Given the description of an element on the screen output the (x, y) to click on. 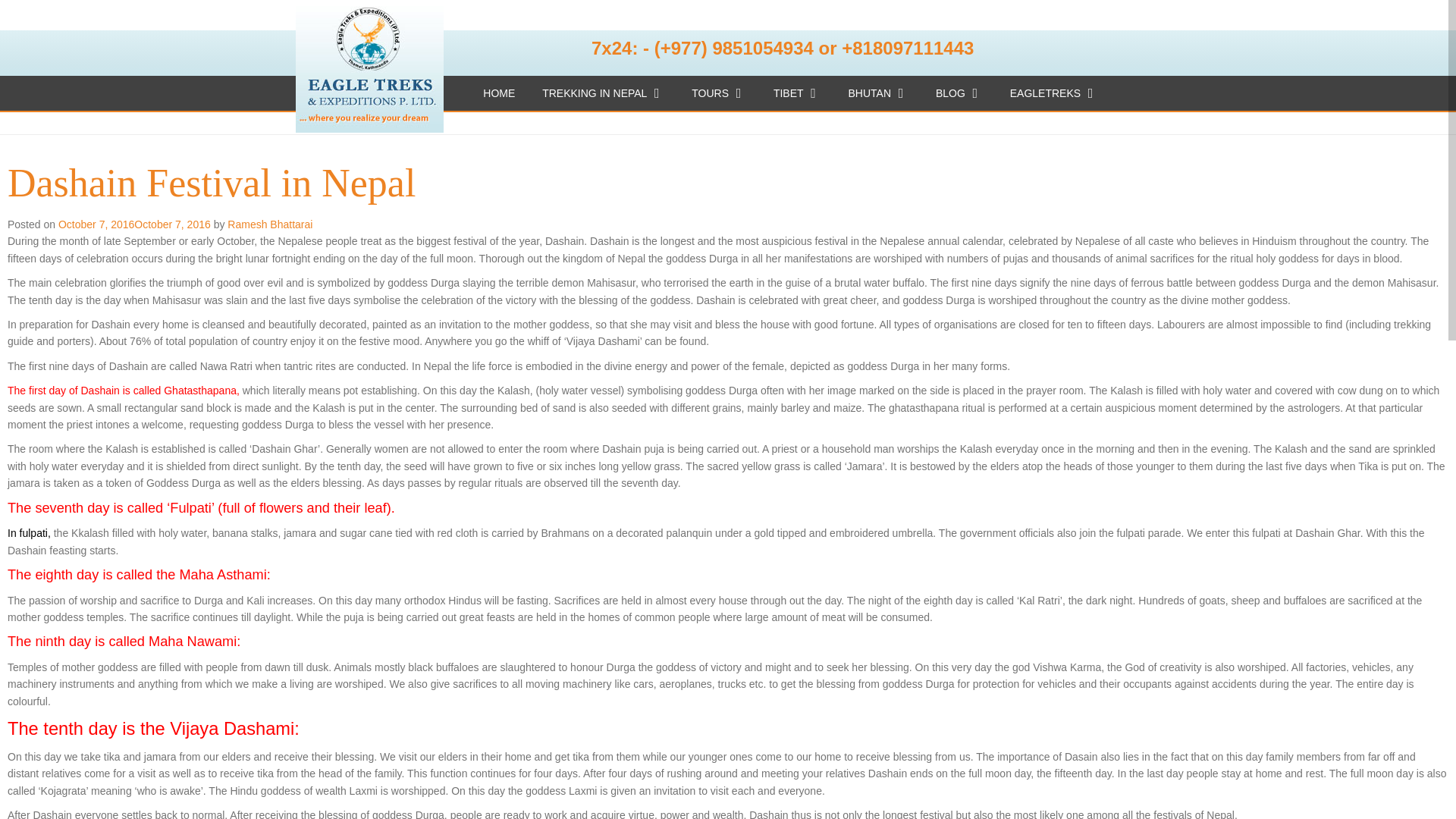
TREKKING IN NEPAL (601, 93)
TOURS (716, 93)
HOME (498, 93)
Image Title (369, 66)
